Given the description of an element on the screen output the (x, y) to click on. 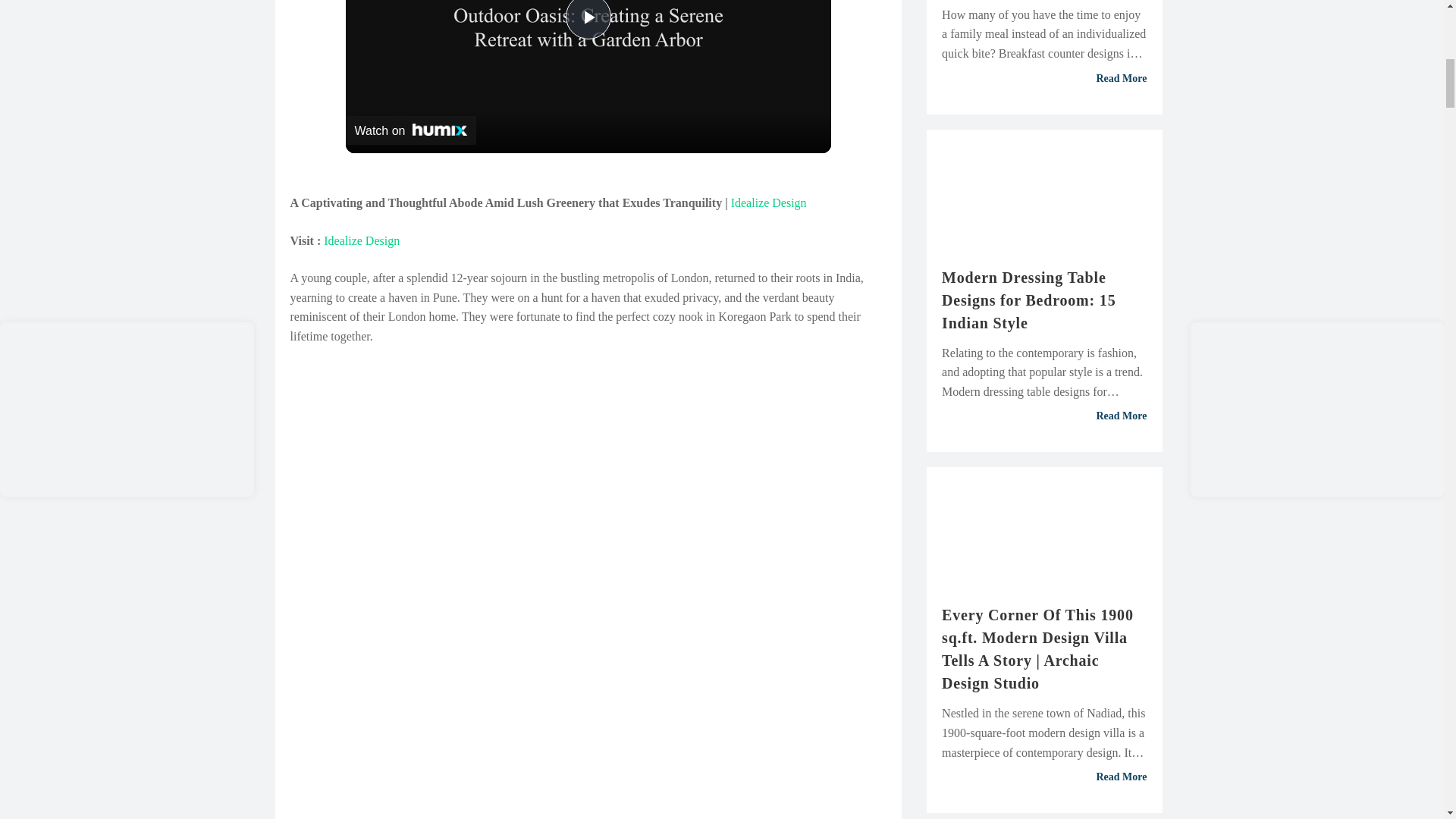
Watch on (411, 130)
Idealize Design (768, 202)
Play Video (588, 19)
Play Video (588, 19)
